Given the description of an element on the screen output the (x, y) to click on. 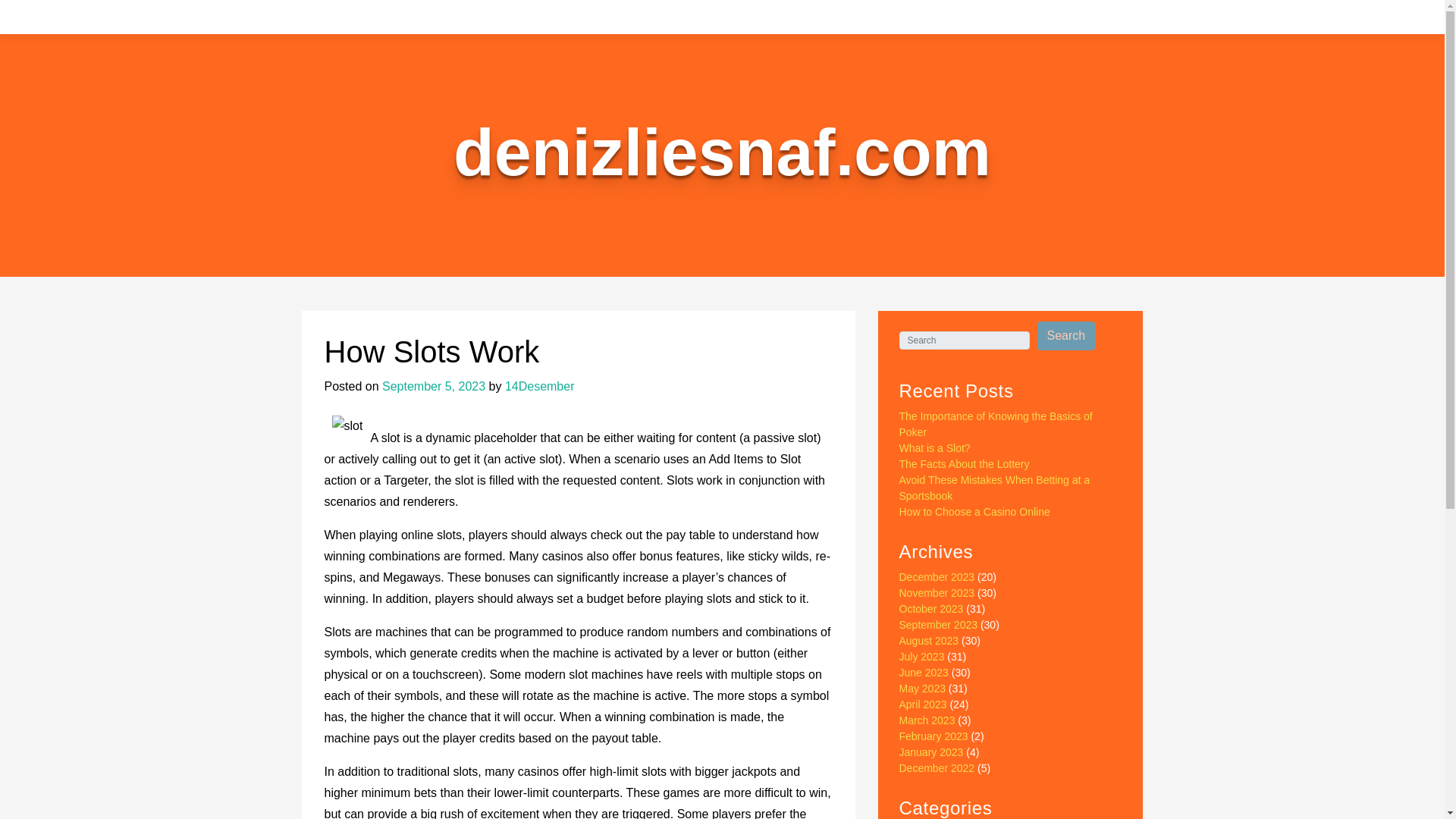
The Importance of Knowing the Basics of Poker (996, 424)
Avoid These Mistakes When Betting at a Sportsbook (994, 488)
December 2023 (937, 576)
14Desember (540, 386)
The Facts About the Lottery (964, 463)
March 2023 (927, 720)
January 2023 (931, 752)
June 2023 (924, 672)
October 2023 (931, 608)
Search (1066, 335)
